Given the description of an element on the screen output the (x, y) to click on. 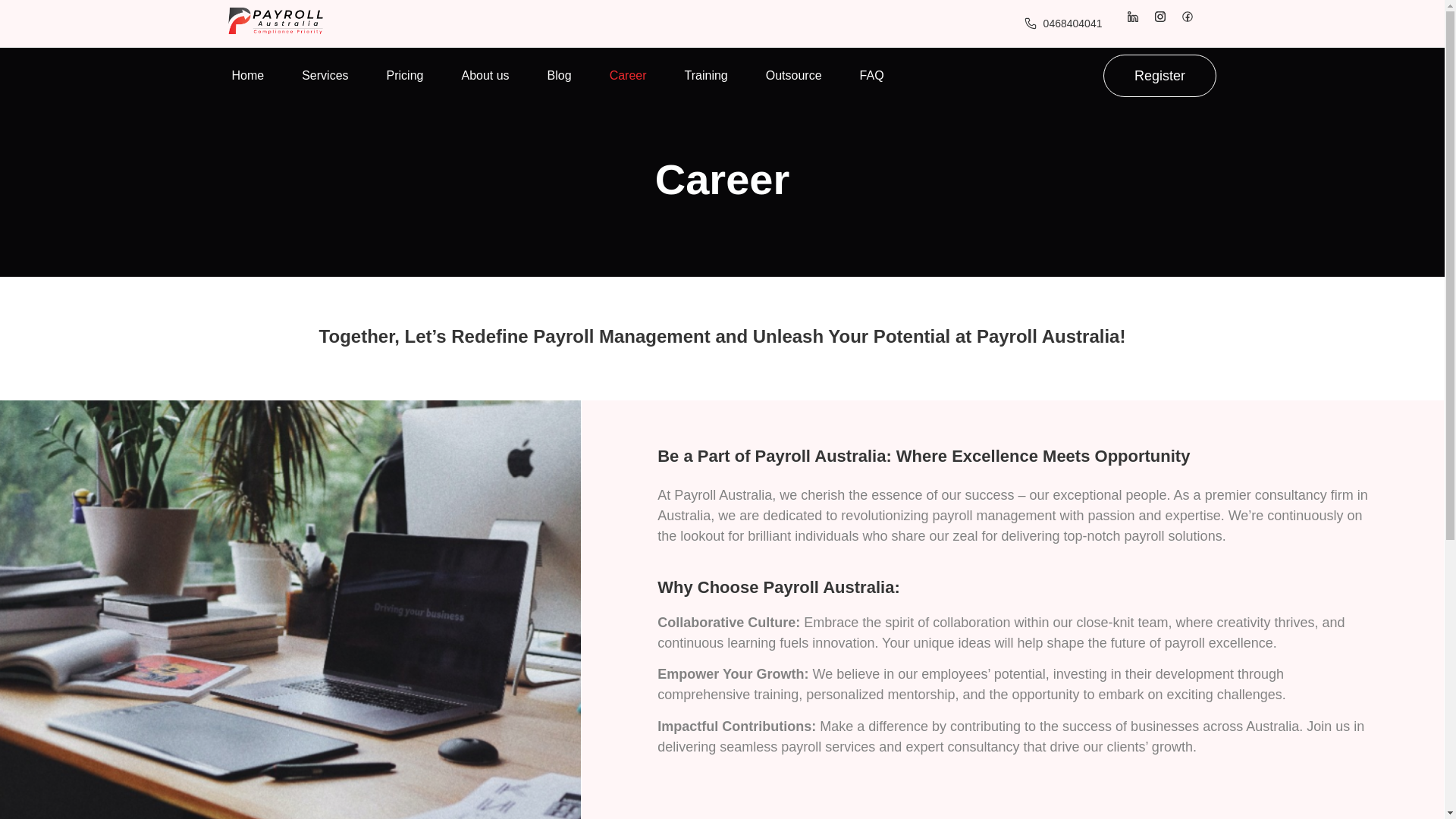
Outsource (793, 75)
Career (628, 75)
FAQ (871, 75)
Register (1159, 75)
Blog (559, 75)
About us (484, 75)
Pricing (405, 75)
Services (324, 75)
Home (247, 75)
Training (705, 75)
